Given the description of an element on the screen output the (x, y) to click on. 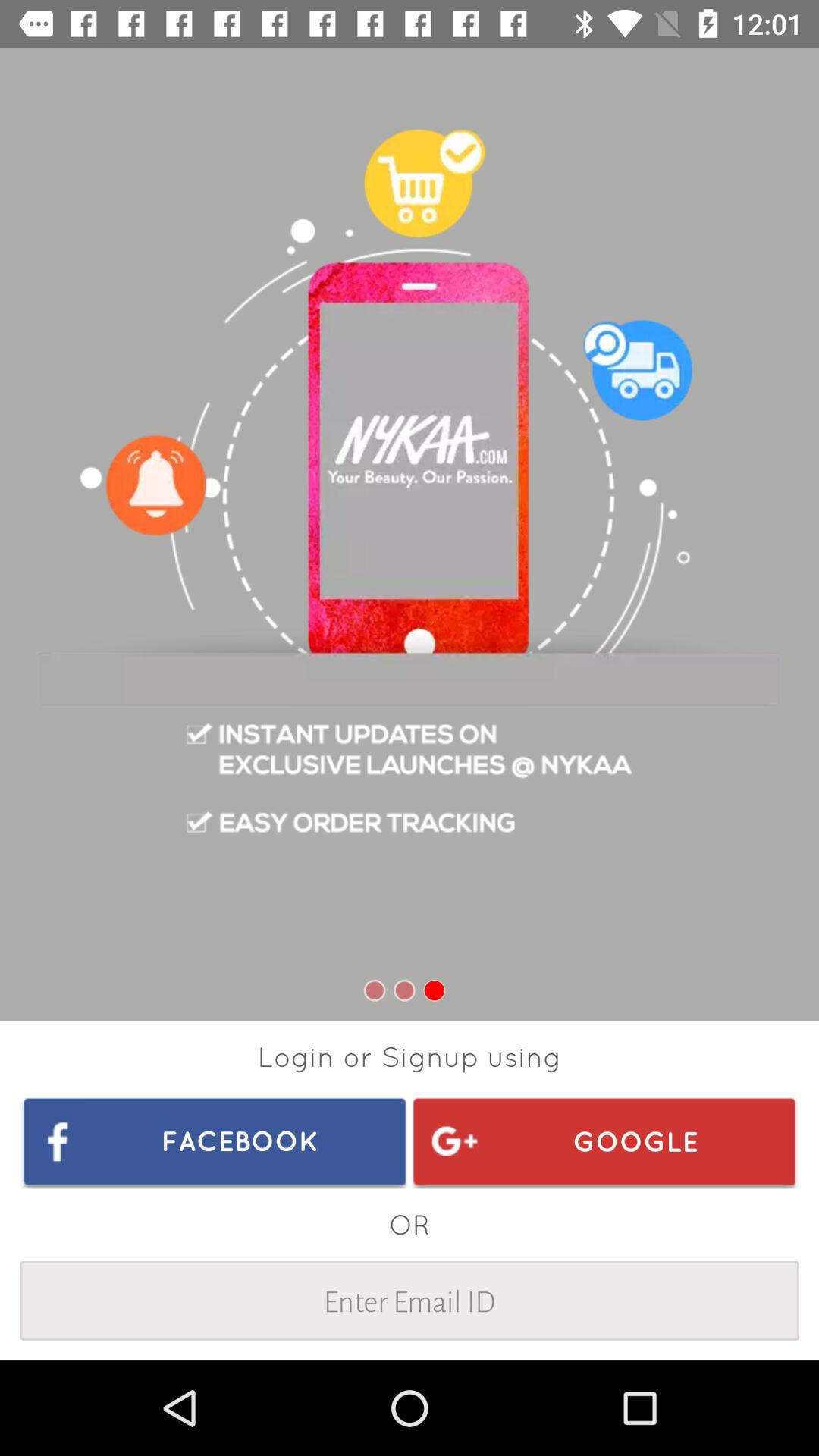
launch the item next to the facebook icon (604, 1140)
